Given the description of an element on the screen output the (x, y) to click on. 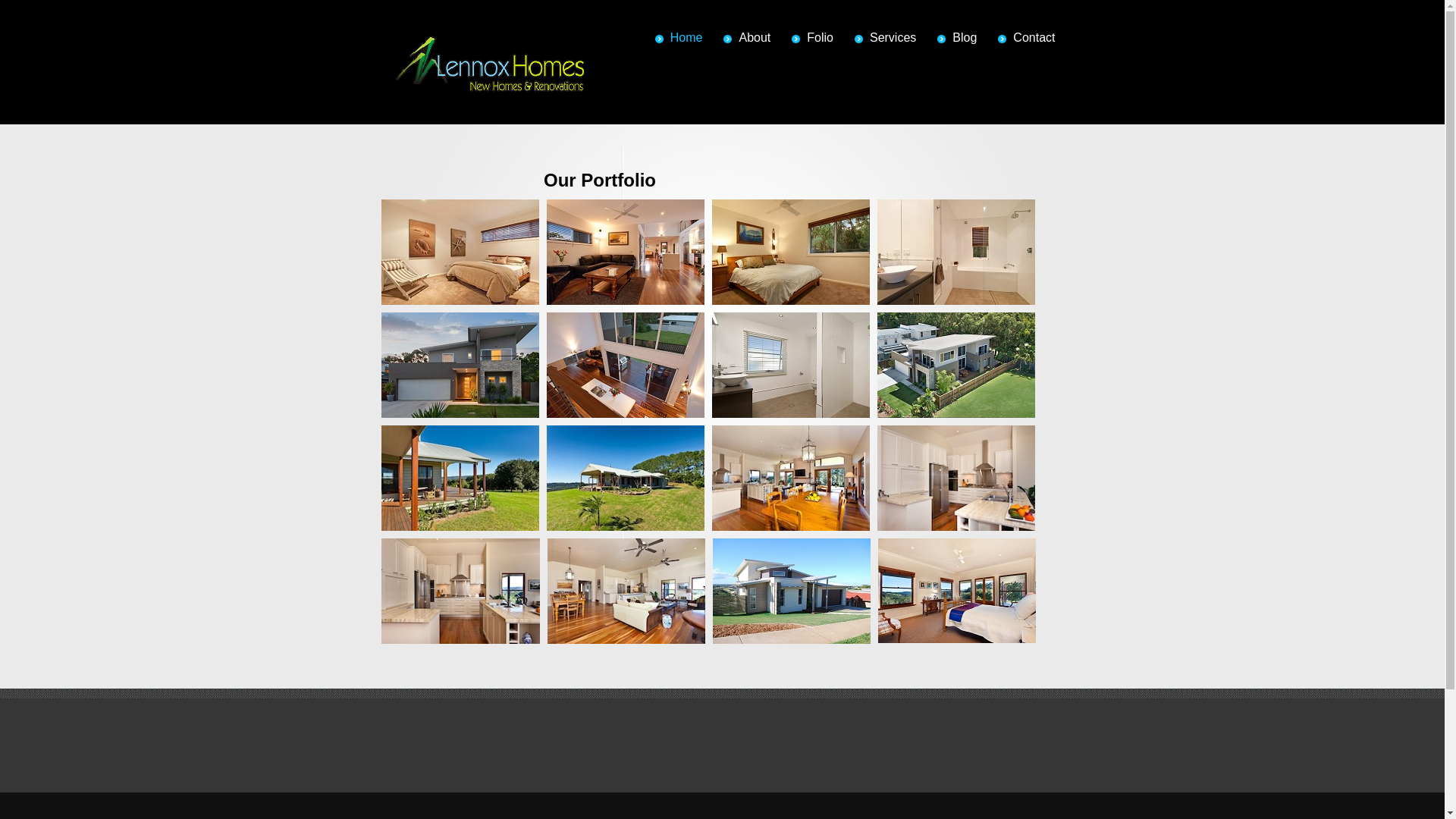
Services Element type: text (885, 37)
Home Element type: text (678, 37)
About Element type: text (746, 37)
Folio Element type: text (812, 37)
Contact Element type: text (1025, 37)
Blog Element type: text (956, 37)
